Given the description of an element on the screen output the (x, y) to click on. 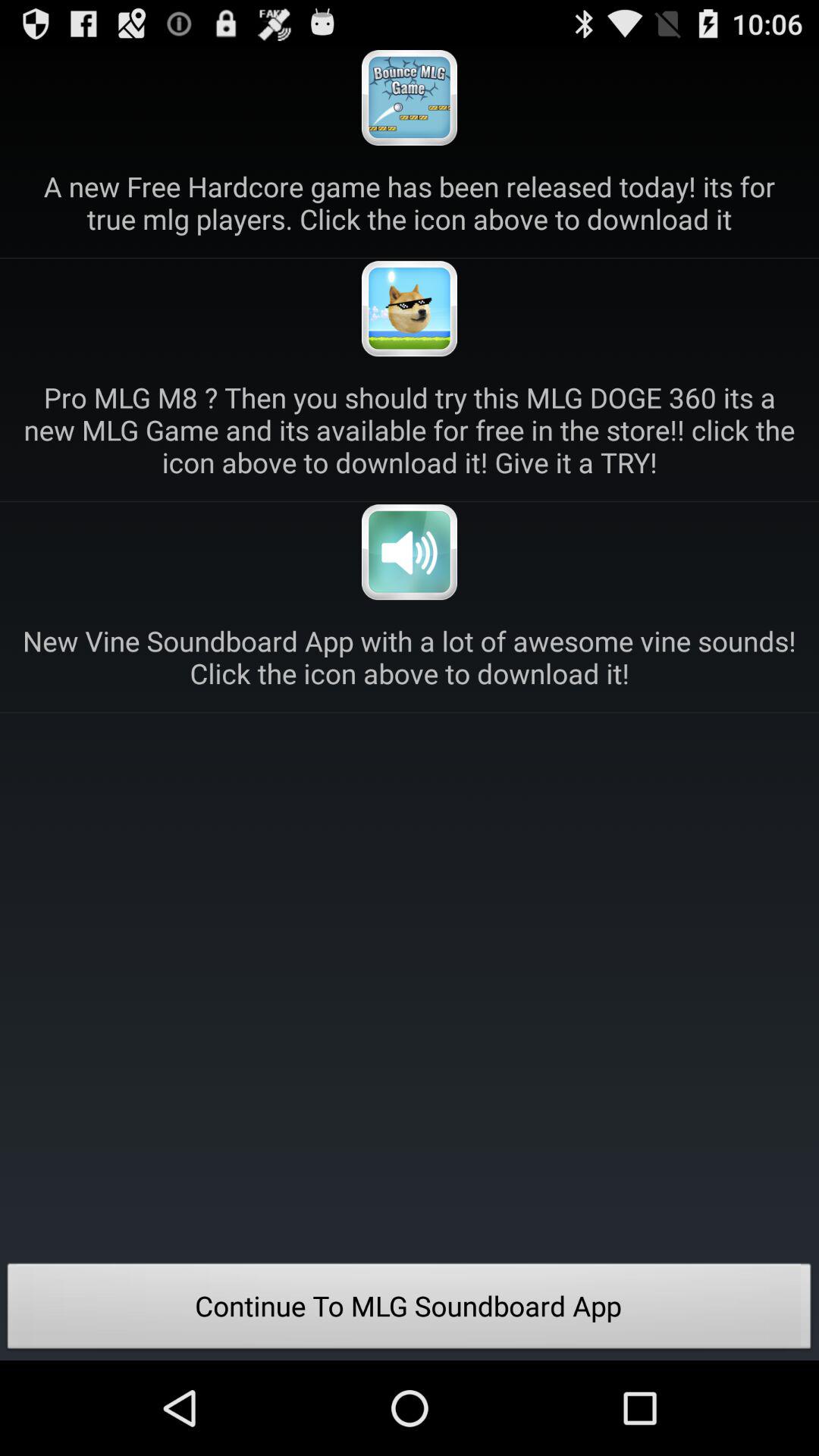
choose the icon above the continue to mlg (409, 657)
